Given the description of an element on the screen output the (x, y) to click on. 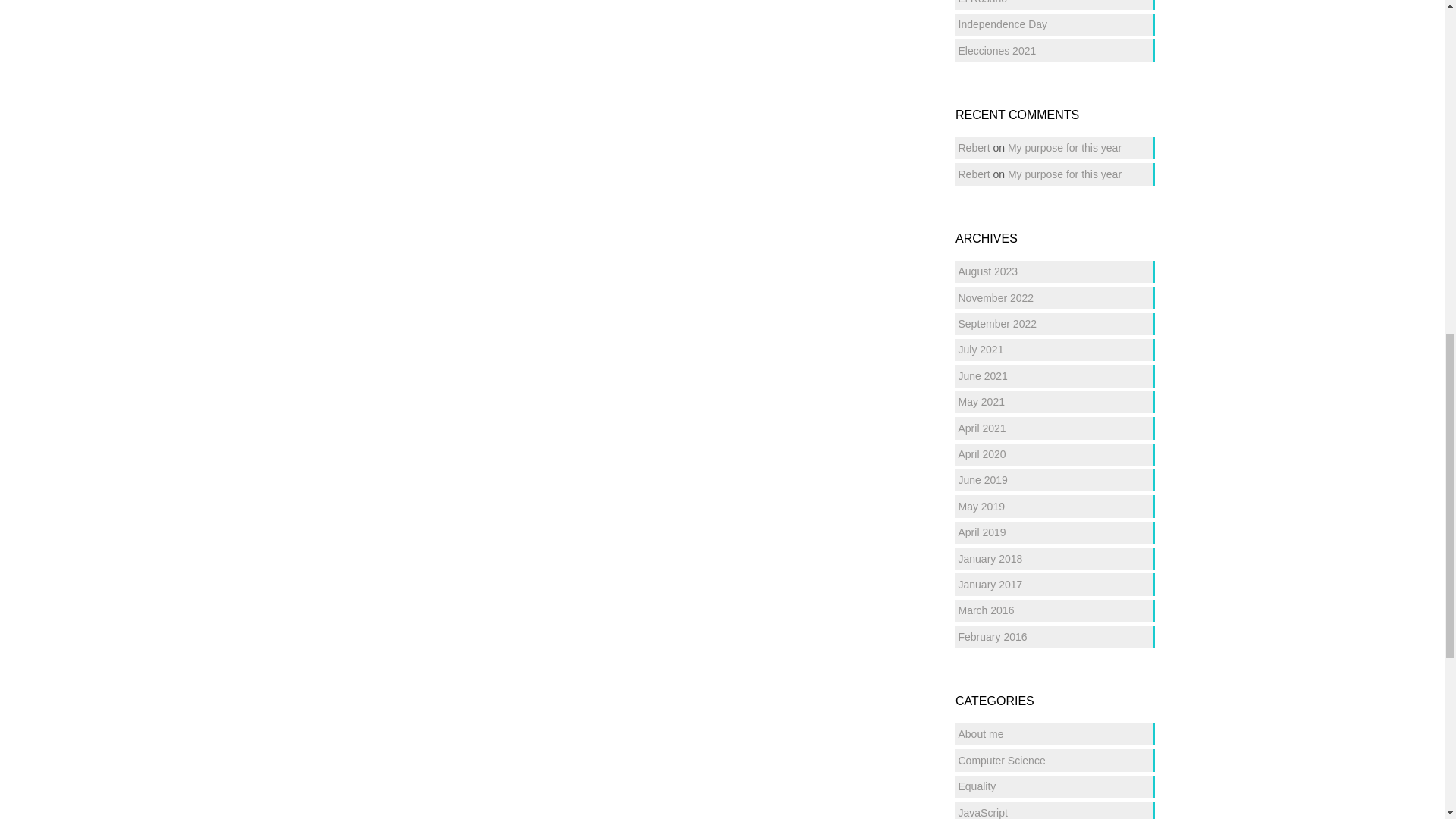
April 2021 (982, 428)
My purpose for this year (1064, 174)
August 2023 (987, 271)
Independence Day (1003, 24)
Elecciones 2021 (997, 50)
Rebert (974, 147)
Equality (976, 786)
June 2021 (982, 376)
JavaScript (982, 812)
El Rosario (982, 2)
